Given the description of an element on the screen output the (x, y) to click on. 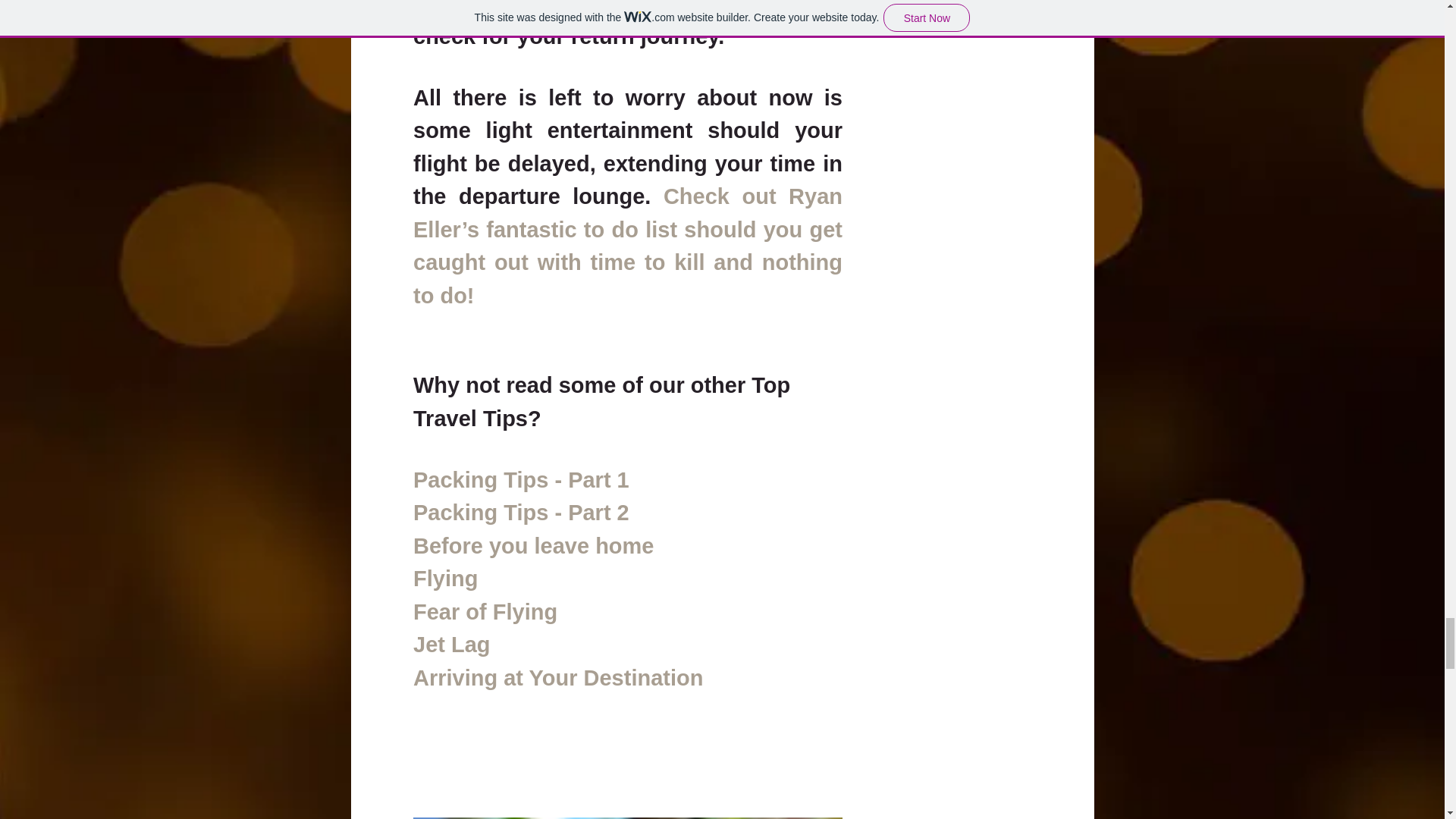
Jet Lag (450, 644)
Fear of Flying (484, 611)
Flying (444, 578)
Before you leave home (532, 545)
Packing Tips - Part 1 (520, 479)
Arriving at Your Destination (556, 677)
Packing Tips - Part 2 (520, 512)
